Given the description of an element on the screen output the (x, y) to click on. 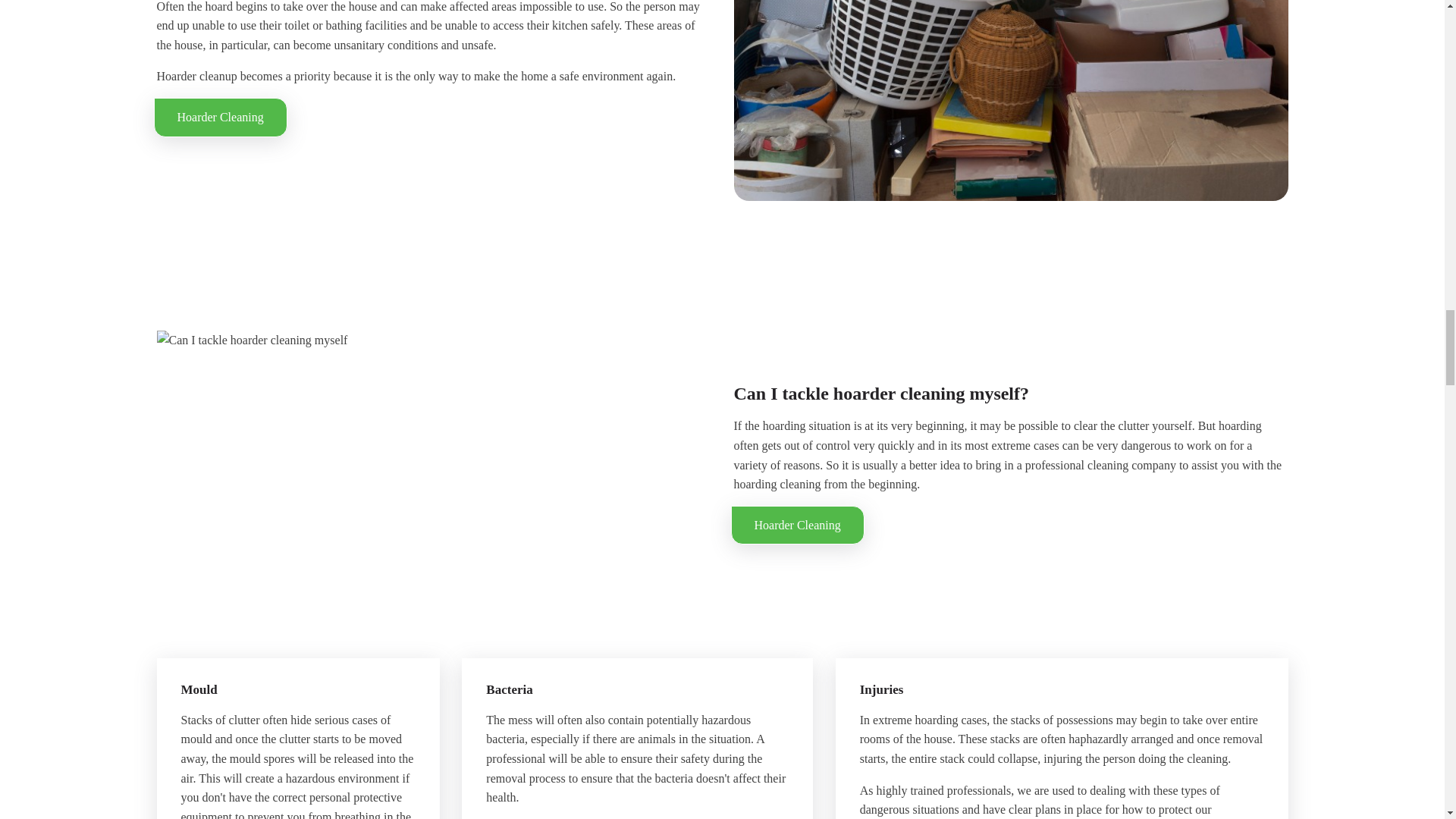
Hoarder Cleaning (219, 117)
Hoarder Cleaning (797, 525)
